Given the description of an element on the screen output the (x, y) to click on. 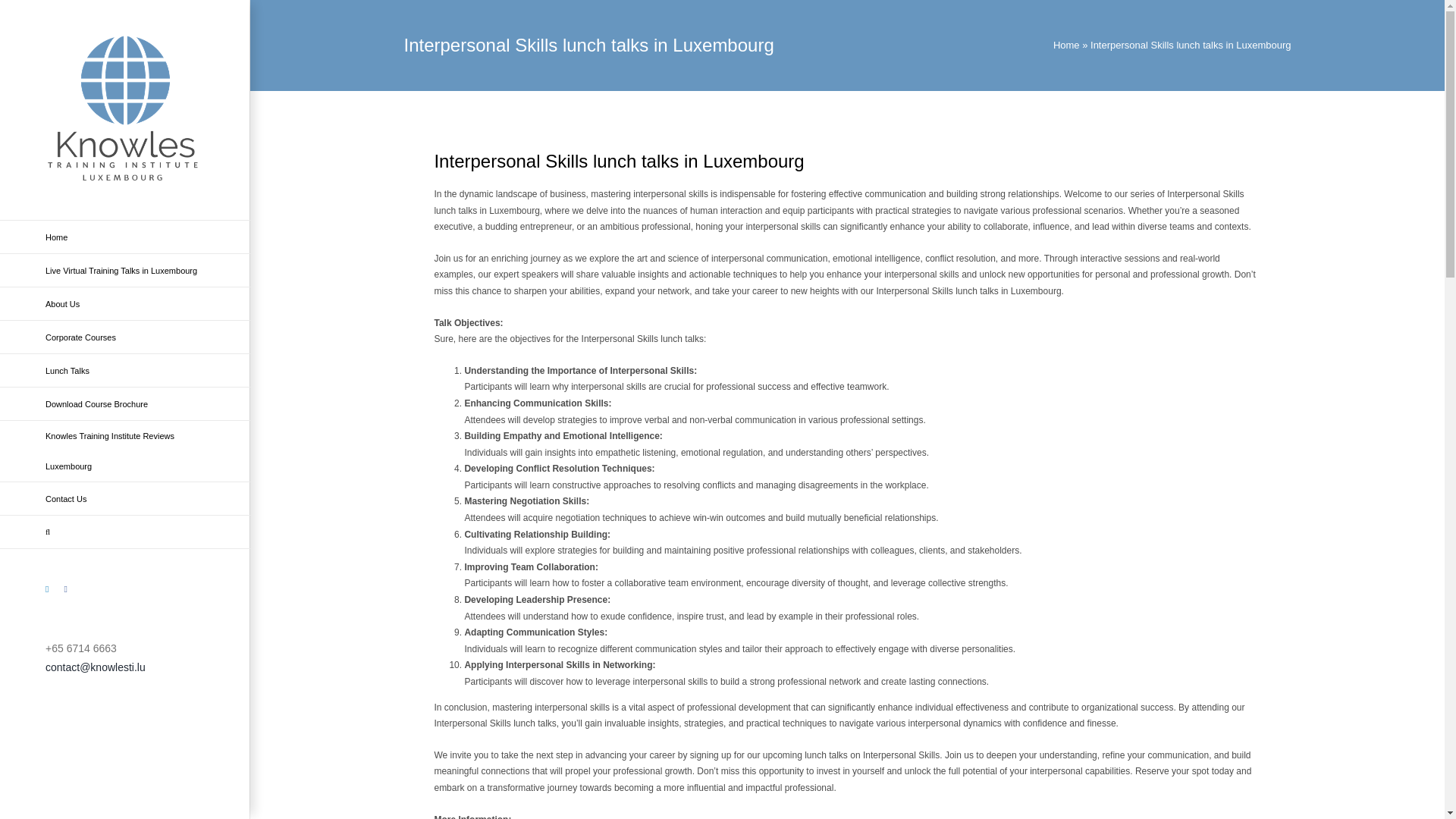
Knowles Training Institute Reviews Luxembourg (125, 451)
Home (125, 236)
Live Virtual Training Talks in Luxembourg (125, 270)
Lunch Talks (125, 370)
Contact Us (125, 498)
Download Course Brochure (125, 403)
About Us (125, 304)
Search (125, 531)
Corporate Courses (125, 337)
Home (1066, 44)
